Given the description of an element on the screen output the (x, y) to click on. 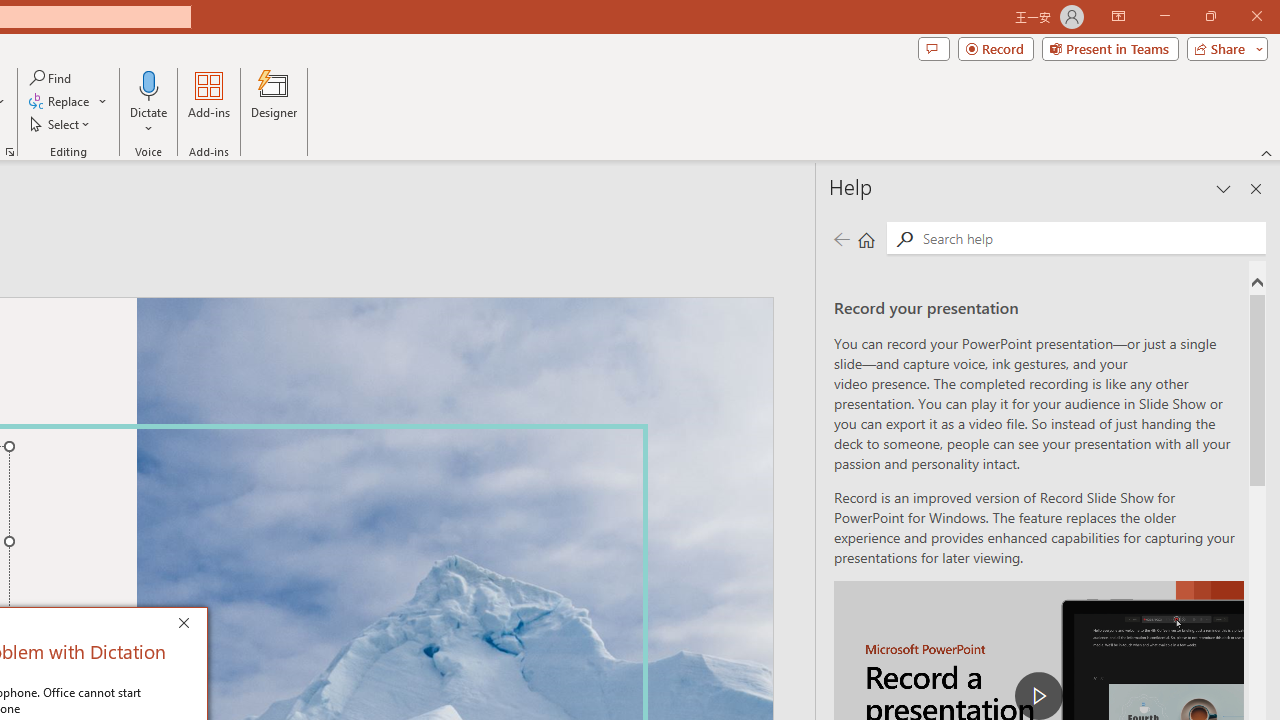
Previous page (841, 238)
